Given the description of an element on the screen output the (x, y) to click on. 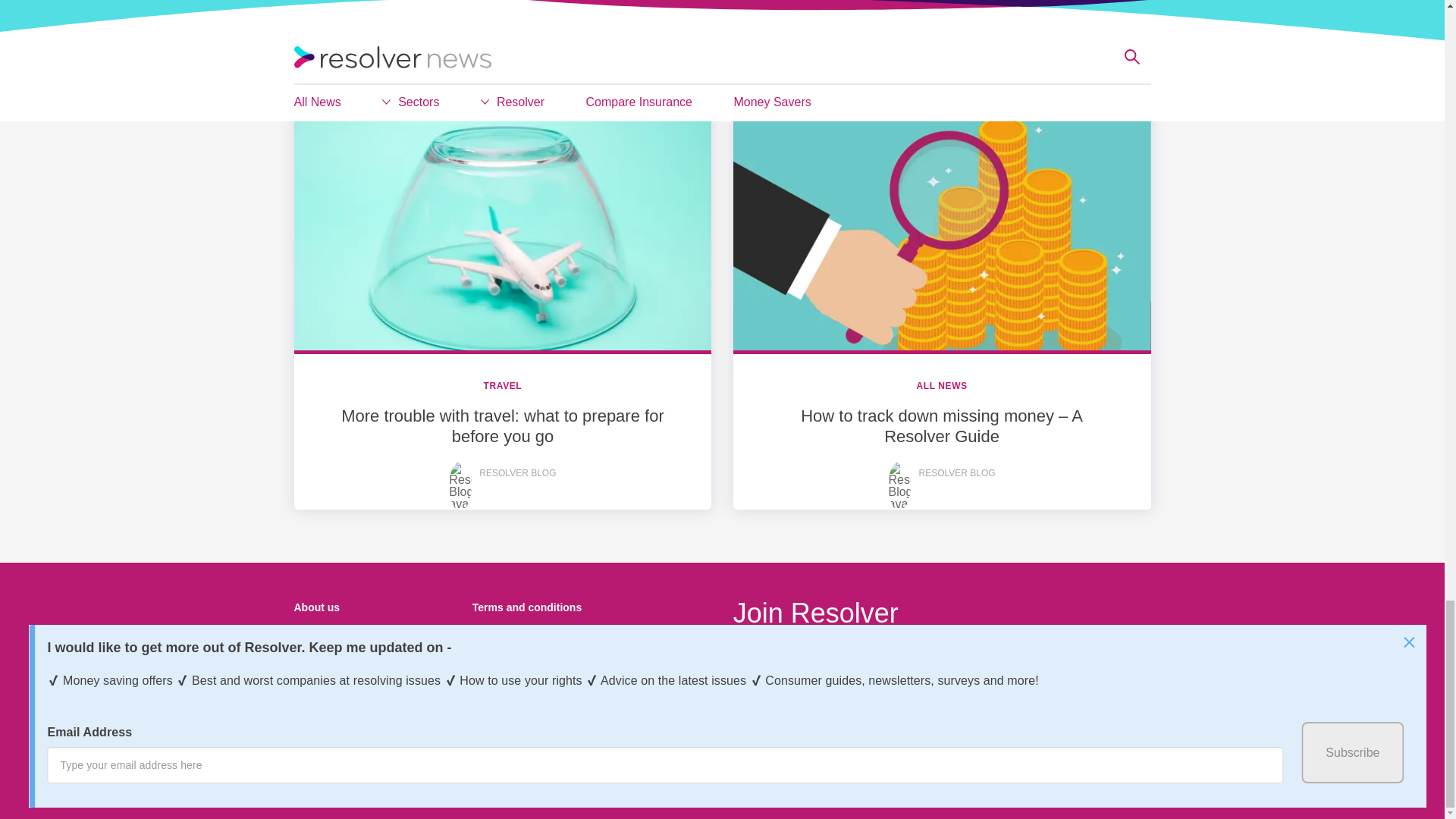
TRAVEL (502, 385)
More trouble with travel: what to prepare for before you go (501, 425)
Contact us (321, 640)
RESOLVER BLOG (956, 472)
How to complain (336, 674)
Are you a business? (345, 706)
RESOLVER BLOG (517, 472)
About us (317, 607)
Careers (313, 739)
ALL NEWS (940, 385)
